Given the description of an element on the screen output the (x, y) to click on. 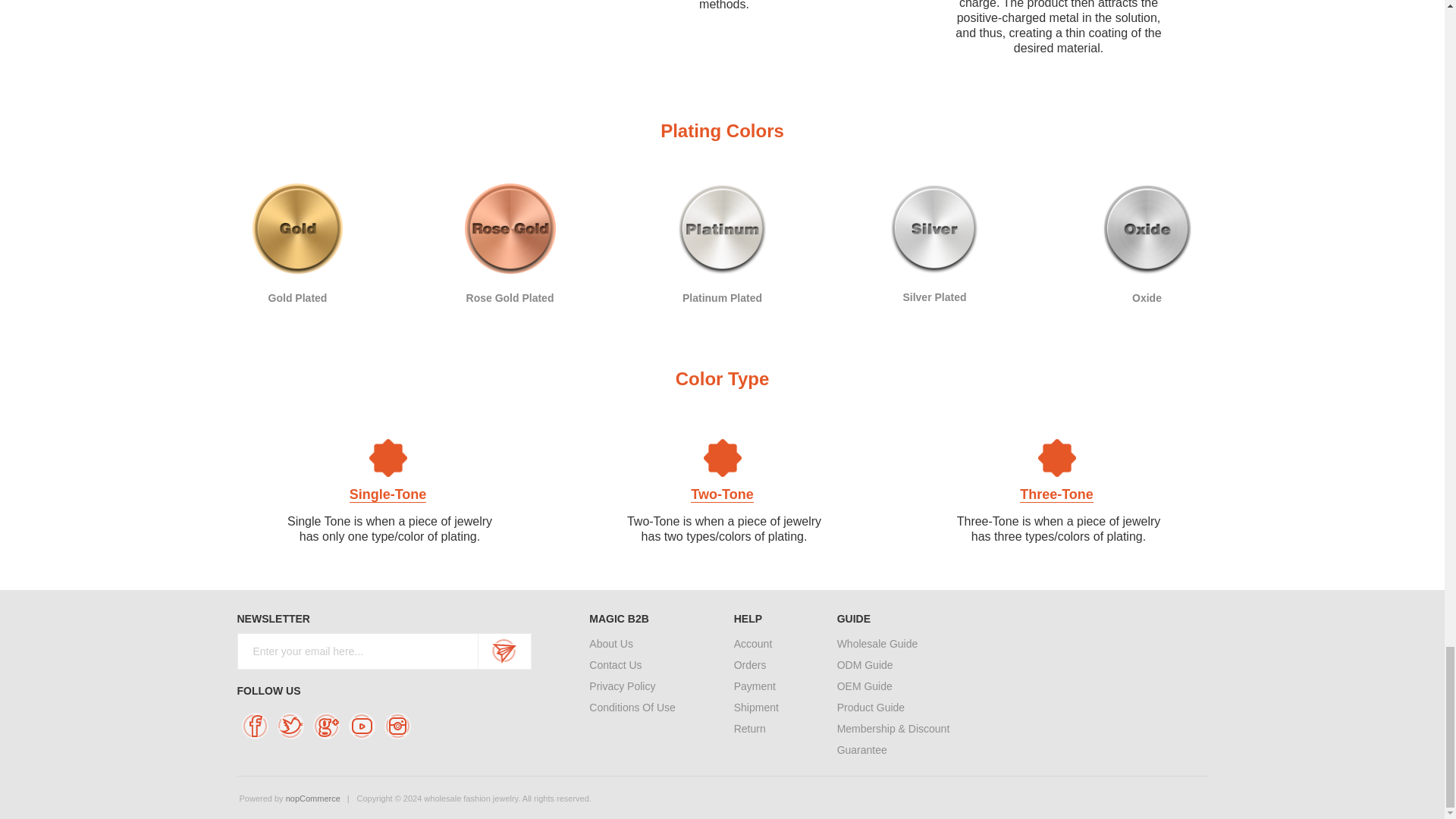
Subscribe (504, 651)
